Given the description of an element on the screen output the (x, y) to click on. 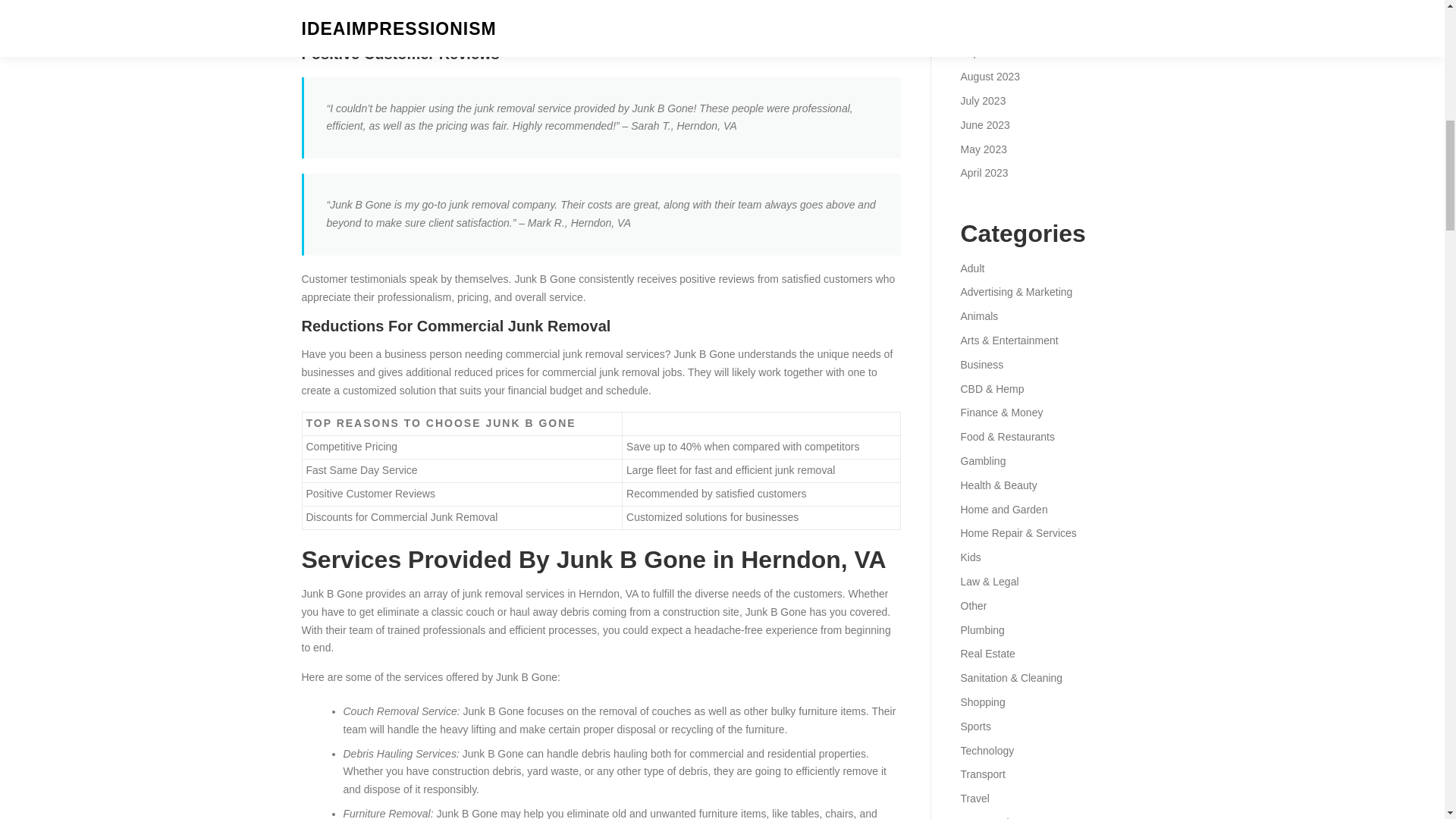
July 2023 (982, 101)
May 2023 (982, 149)
June 2023 (984, 124)
August 2023 (989, 76)
Business (981, 364)
October 2023 (992, 28)
November 2023 (997, 5)
Adult (971, 268)
September 2023 (999, 51)
April 2023 (983, 173)
